Given the description of an element on the screen output the (x, y) to click on. 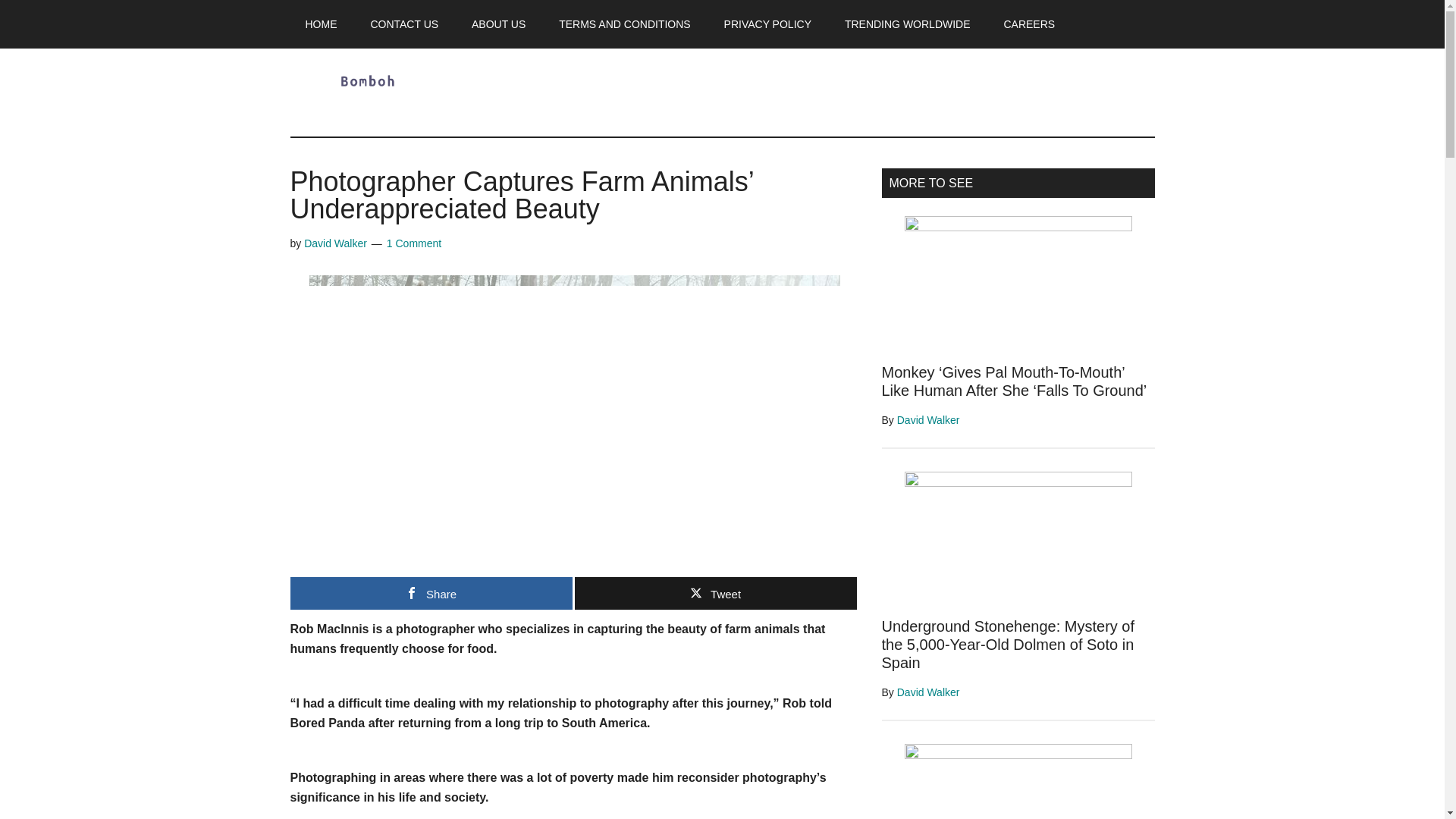
David Walker (927, 419)
Share (430, 593)
CAREERS (1029, 24)
1 Comment (414, 243)
TERMS AND CONDITIONS (623, 24)
ABOUT US (498, 24)
Tweet (716, 593)
David Walker (335, 243)
TRENDING WORLDWIDE (907, 24)
PRIVACY POLICY (768, 24)
CONTACT US (403, 24)
HOME (320, 24)
David Walker (927, 692)
